Given the description of an element on the screen output the (x, y) to click on. 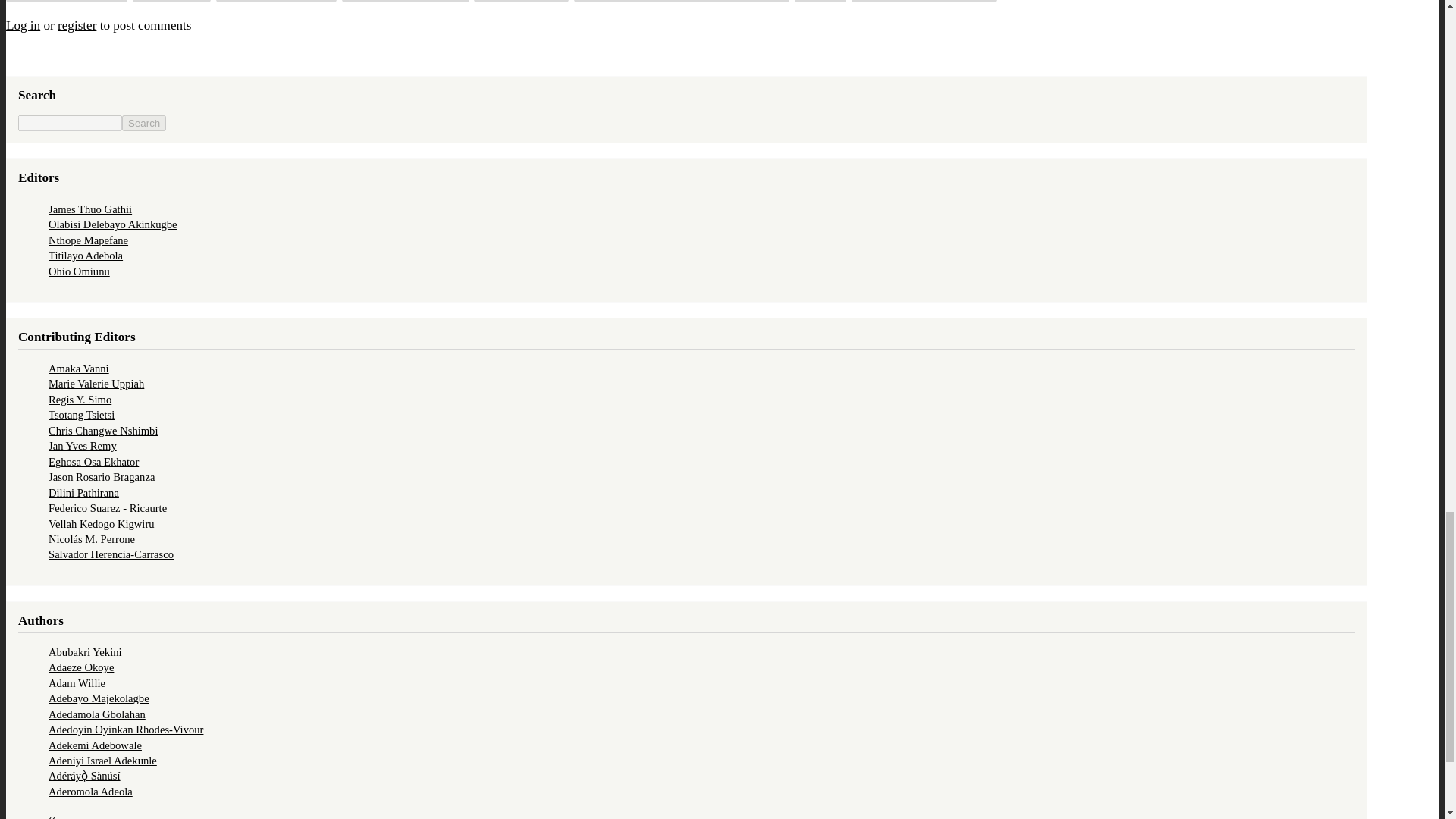
Go to previous page (52, 815)
Enter the terms you wish to search for. (69, 123)
